Given the description of an element on the screen output the (x, y) to click on. 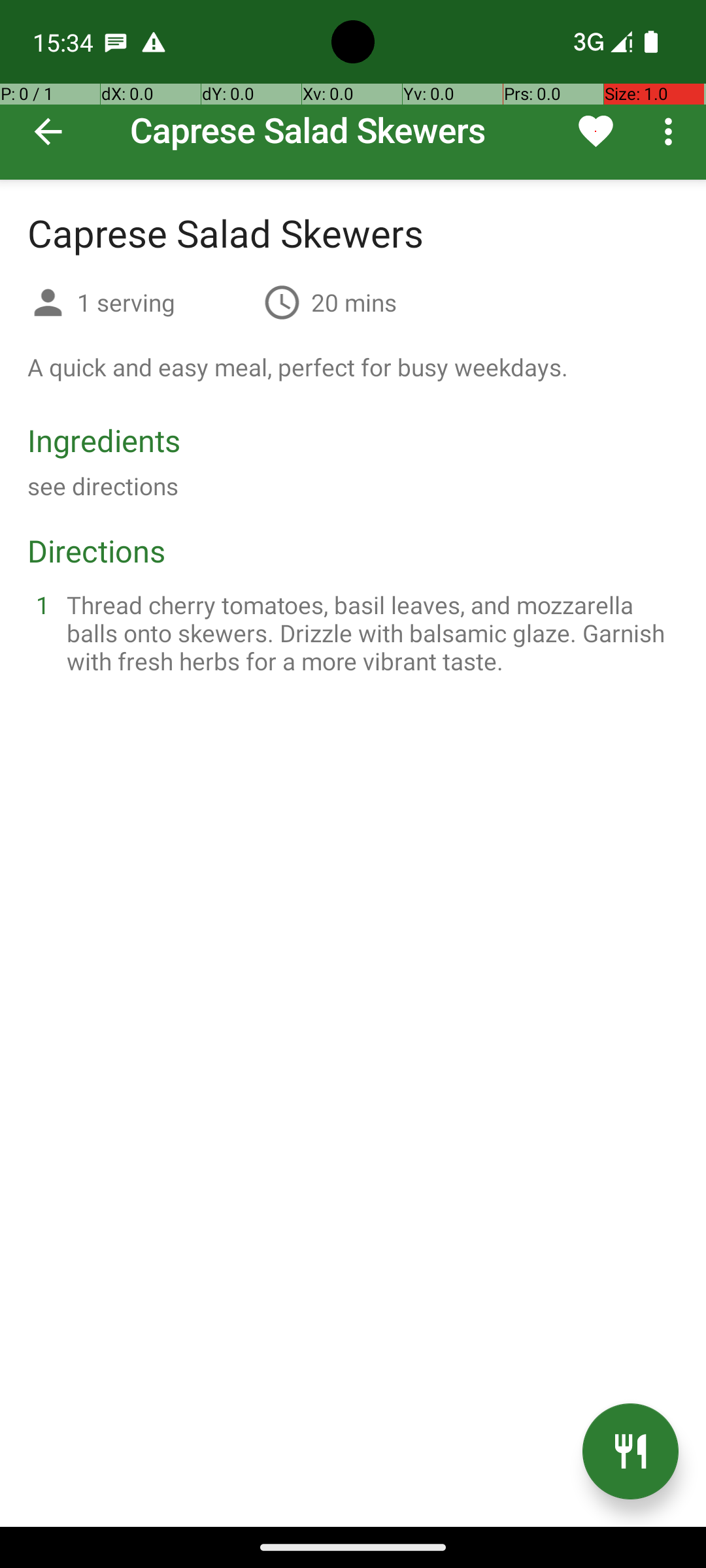
Thread cherry tomatoes, basil leaves, and mozzarella balls onto skewers. Drizzle with balsamic glaze. Garnish with fresh herbs for a more vibrant taste. Element type: android.widget.TextView (368, 632)
